Given the description of an element on the screen output the (x, y) to click on. 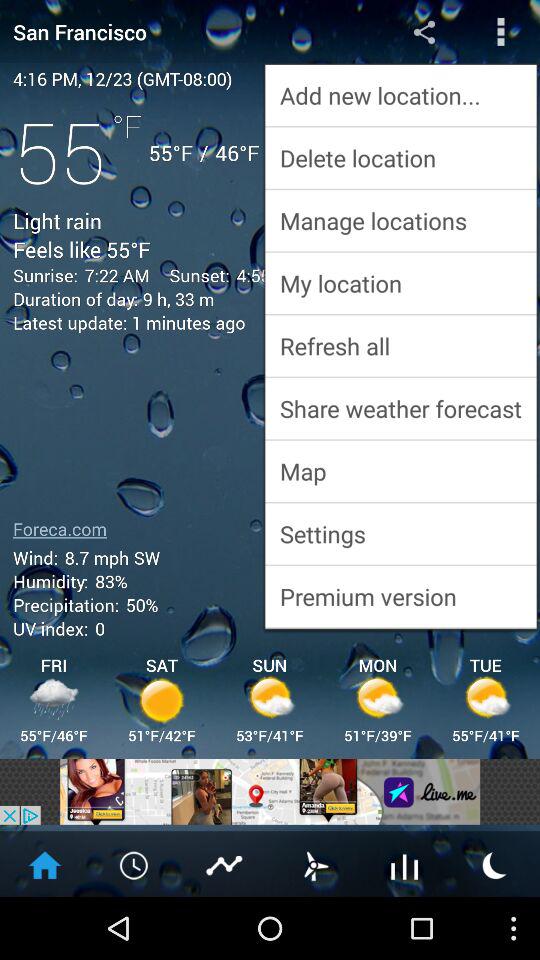
click the share weather forecast (400, 408)
